Given the description of an element on the screen output the (x, y) to click on. 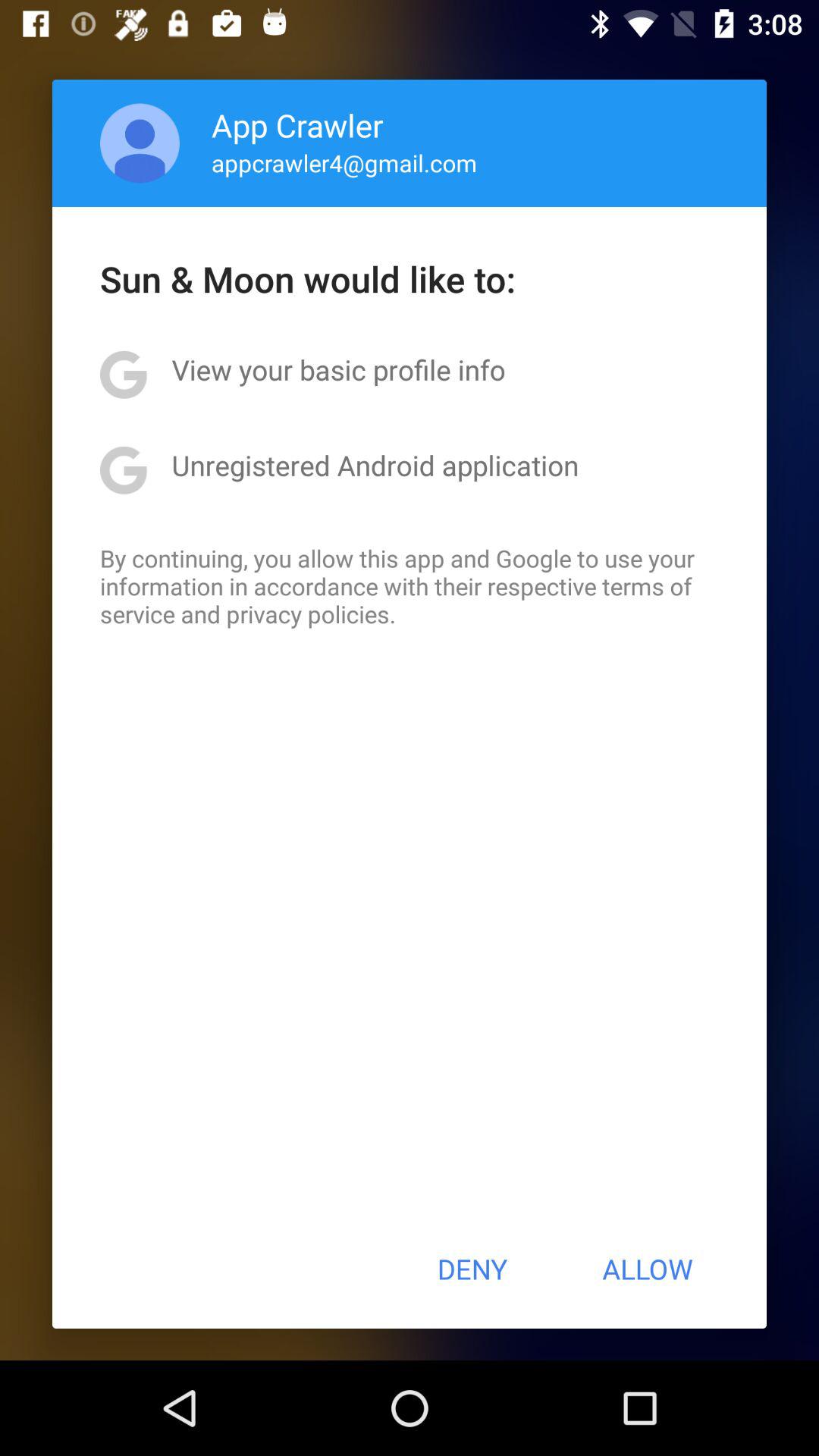
turn on the icon below view your basic icon (374, 465)
